Given the description of an element on the screen output the (x, y) to click on. 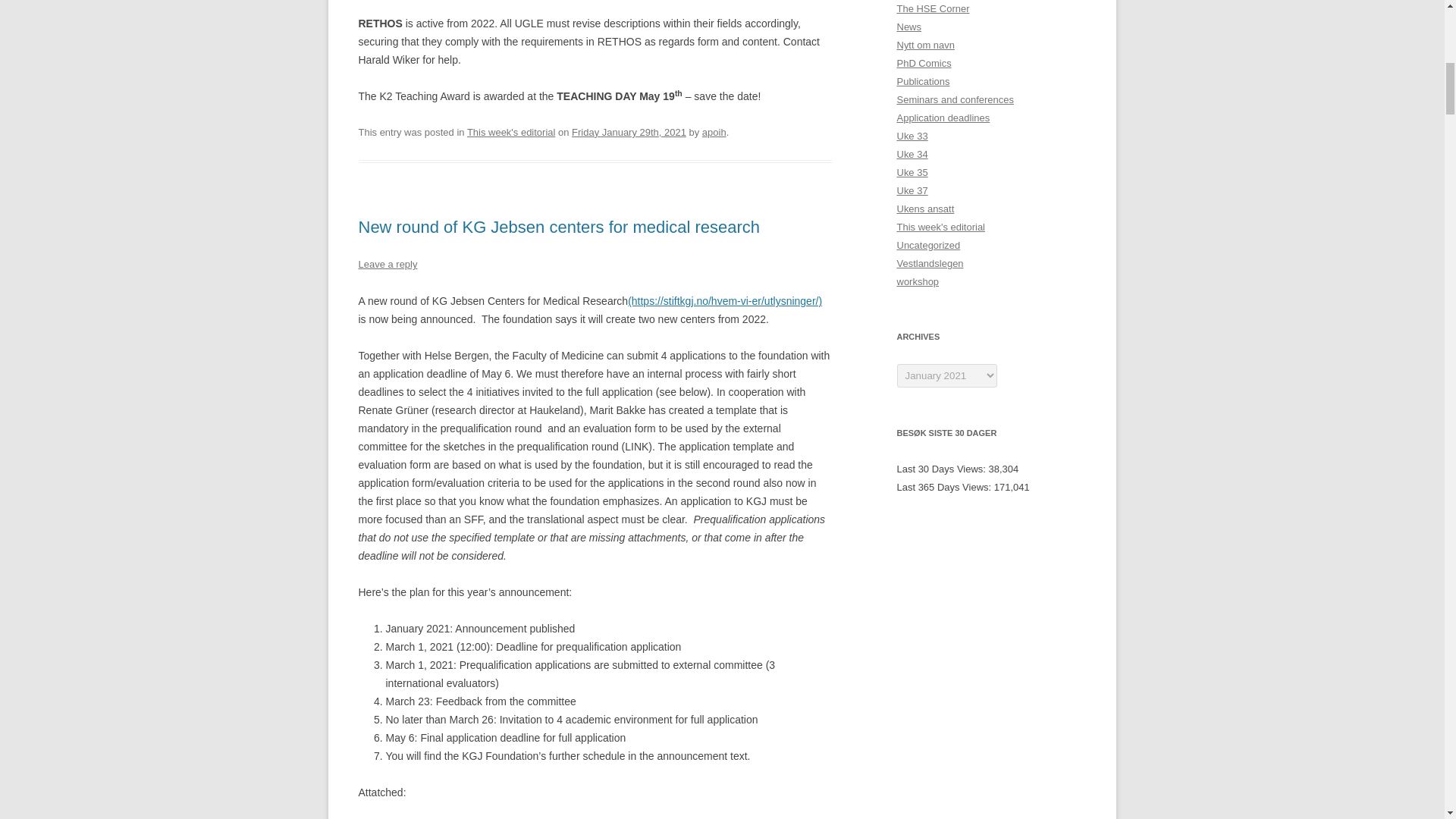
View all posts by apoih (713, 132)
10:55 AM (628, 132)
apoih (713, 132)
This week's editorial (511, 132)
New round of KG Jebsen centers for medical research (558, 226)
Friday January 29th, 2021 (628, 132)
Leave a reply (387, 264)
